Given the description of an element on the screen output the (x, y) to click on. 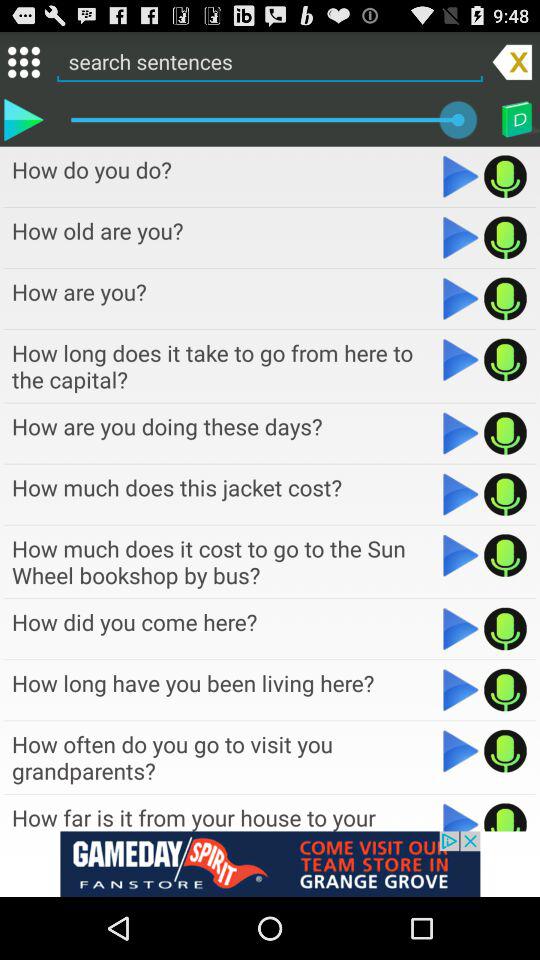
it is a searching key (460, 298)
